Given the description of an element on the screen output the (x, y) to click on. 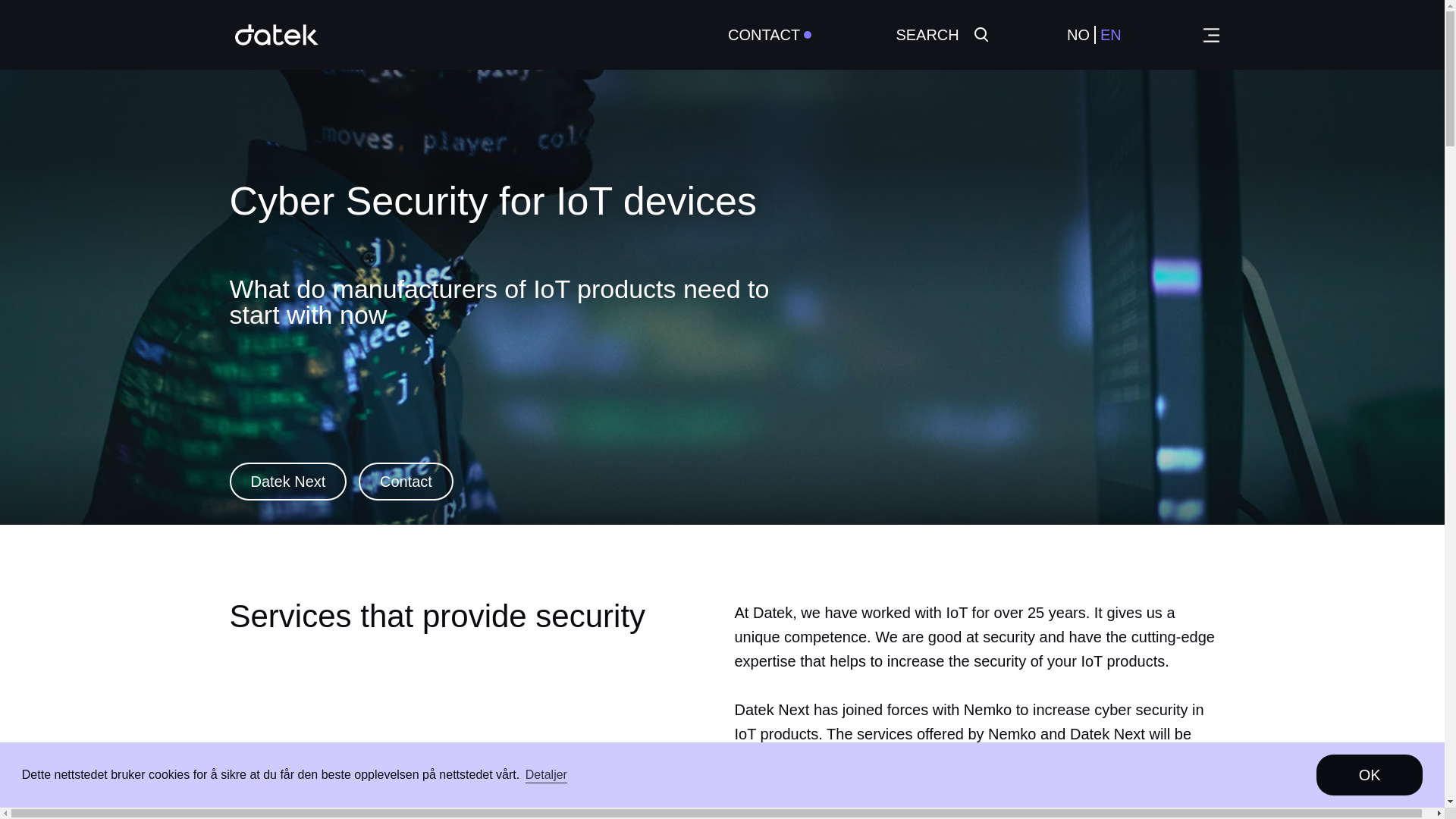
NO (1078, 34)
CONTACT (763, 34)
EN (1110, 34)
Detaljer (546, 774)
SEARCH (940, 34)
OK (1369, 774)
